Given the description of an element on the screen output the (x, y) to click on. 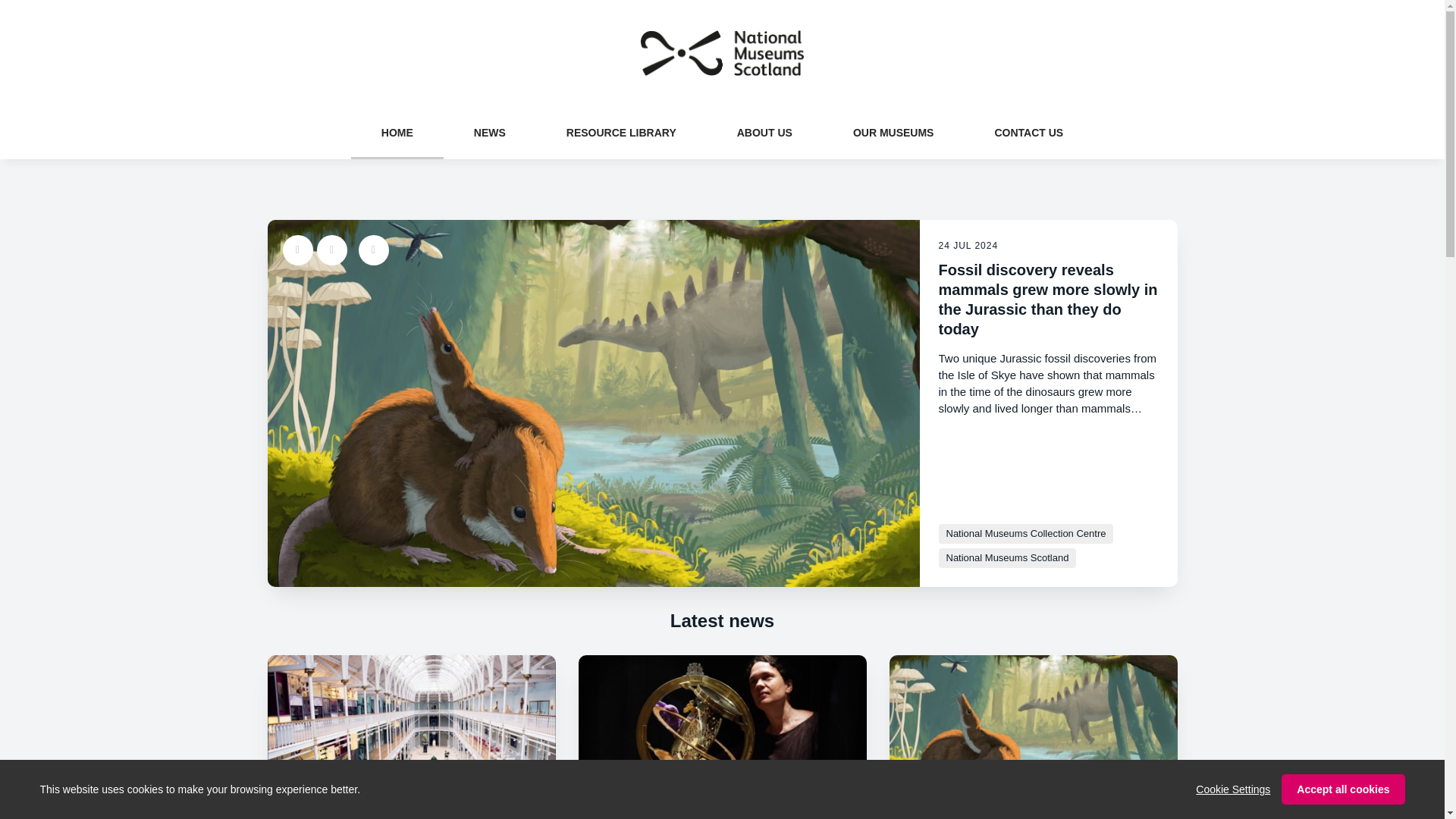
Pause (373, 250)
Previous (297, 250)
ABOUT US (764, 132)
OUR MUSEUMS (892, 132)
RESOURCE LIBRARY (620, 132)
National Museums Scotland (1008, 557)
Next (332, 250)
NEWS (489, 132)
CONTACT US (1028, 132)
